Given the description of an element on the screen output the (x, y) to click on. 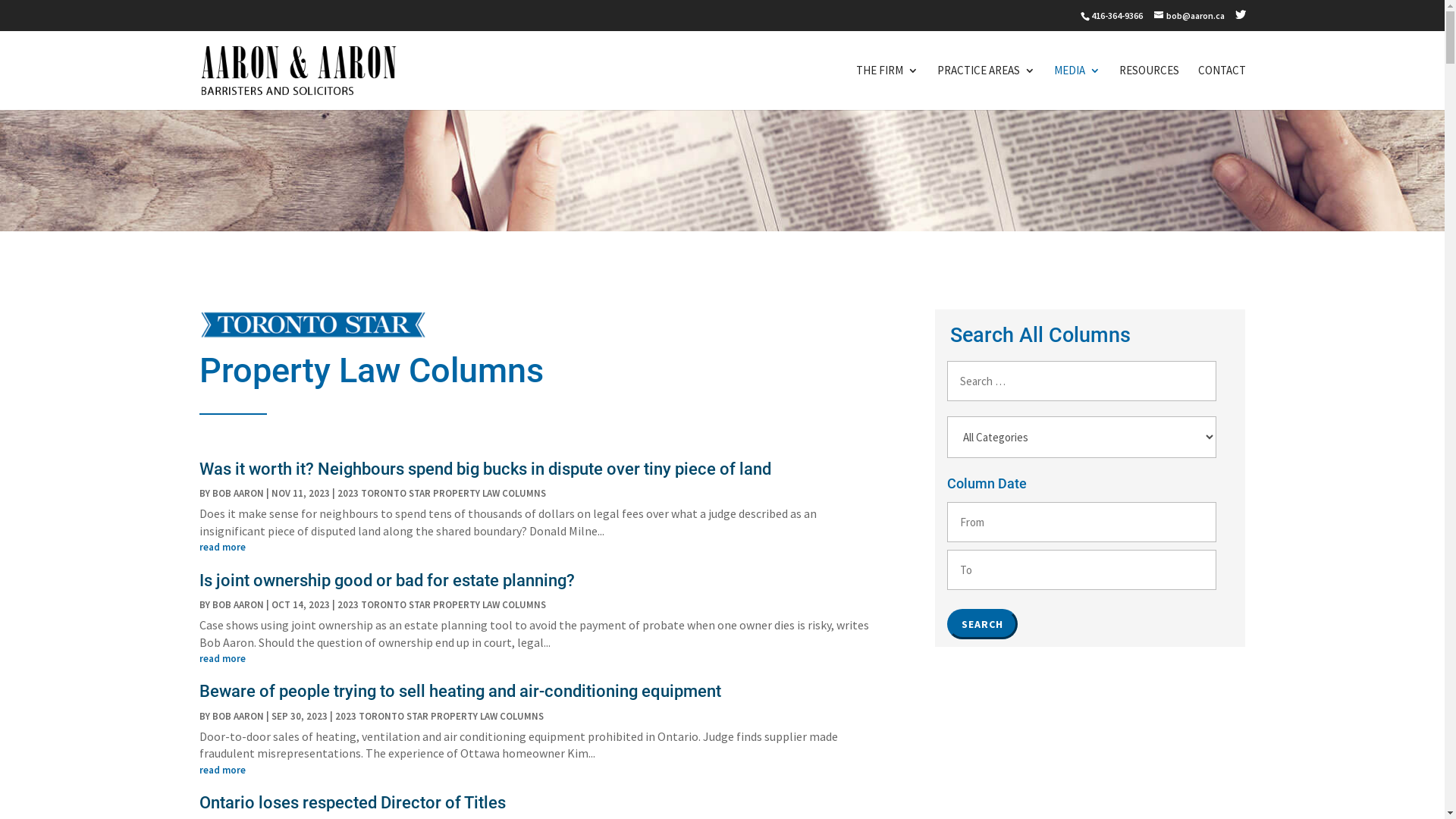
read more Element type: text (537, 658)
Ontario loses respected Director of Titles Element type: text (351, 802)
Search Form Field Element type: hover (1081, 380)
PRACTICE AREAS Element type: text (986, 87)
Date Form Field Element type: hover (1081, 522)
2023 TORONTO STAR PROPERTY LAW COLUMNS Element type: text (440, 492)
BOB AARON Element type: text (237, 715)
THE FIRM Element type: text (886, 87)
bob@aaron.ca Element type: text (1189, 15)
2023 TORONTO STAR PROPERTY LAW COLUMNS Element type: text (439, 715)
Is joint ownership good or bad for estate planning? Element type: text (386, 580)
MEDIA Element type: text (1077, 87)
2023 TORONTO STAR PROPERTY LAW COLUMNS Element type: text (440, 604)
BOB AARON Element type: text (237, 604)
Search Element type: text (982, 623)
BOB AARON Element type: text (237, 492)
Date Form Field Element type: hover (1081, 569)
CONTACT Element type: text (1221, 87)
read more Element type: text (537, 547)
RESOURCES Element type: text (1149, 87)
read more Element type: text (537, 770)
